Given the description of an element on the screen output the (x, y) to click on. 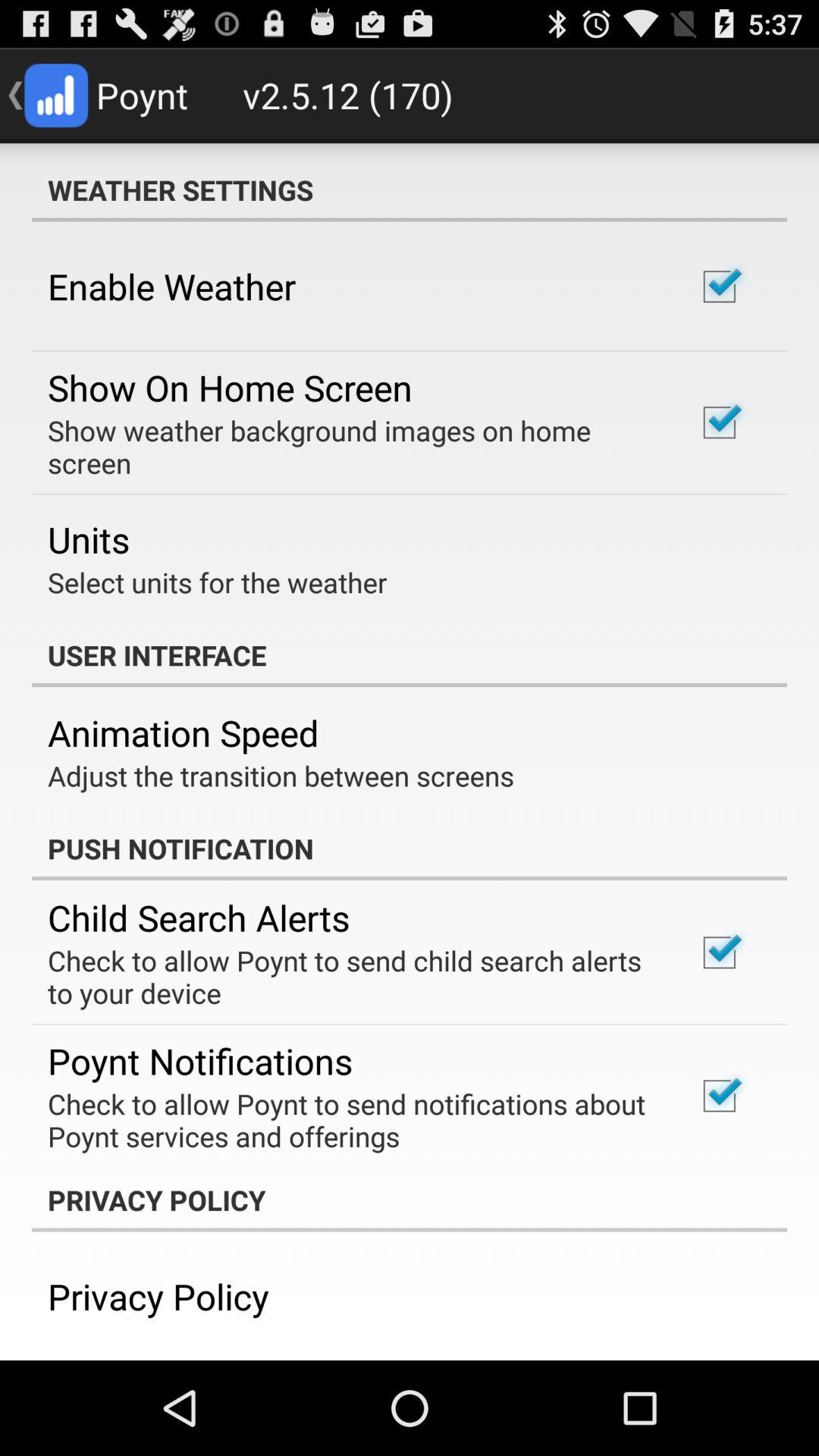
press the icon below the animation speed icon (280, 775)
